Given the description of an element on the screen output the (x, y) to click on. 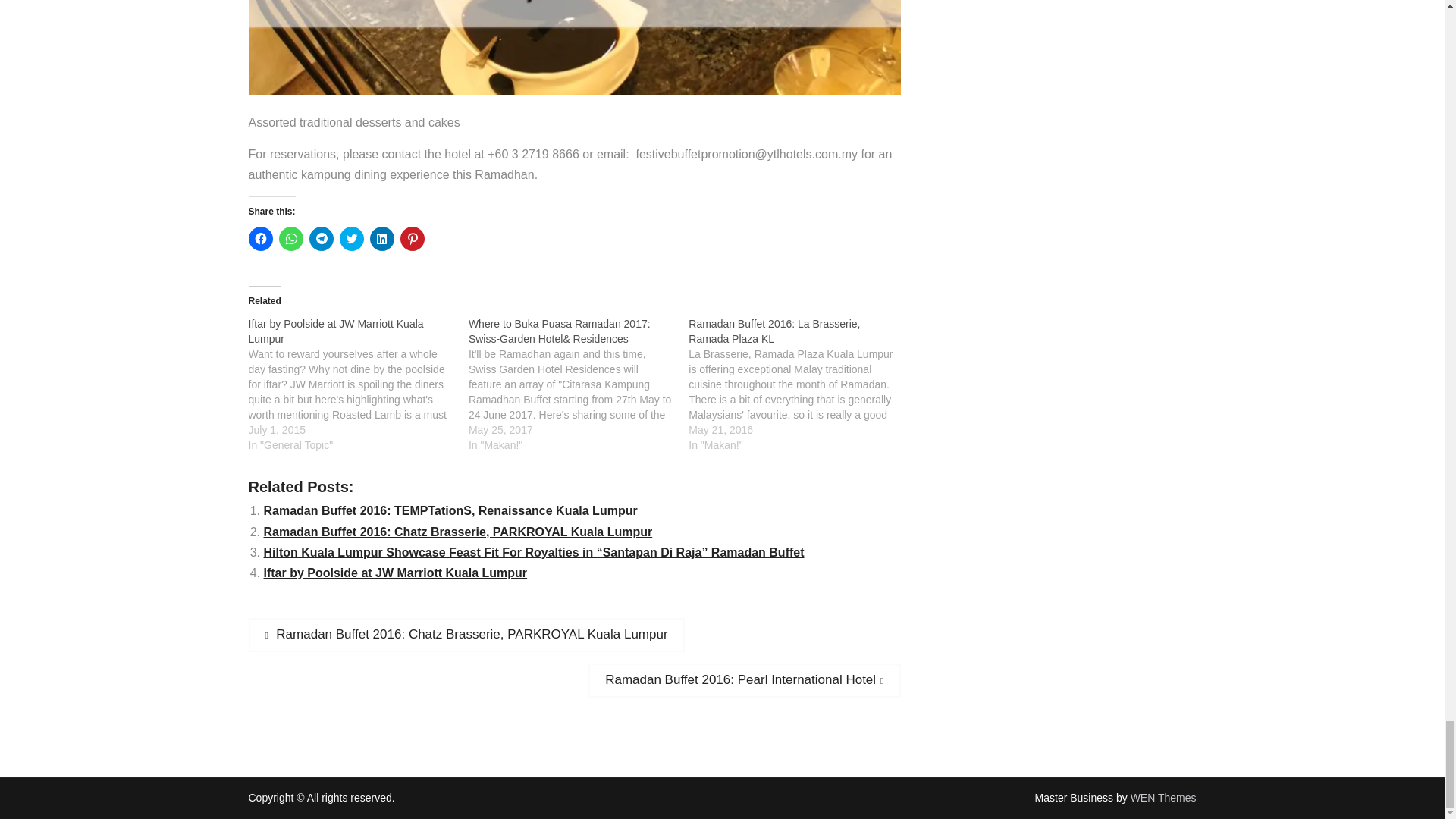
Click to share on Facebook (260, 238)
Iftar by Poolside at JW Marriott Kuala Lumpur (335, 330)
Ramadan Buffet 2016: La Brasserie, Ramada Plaza KL (798, 384)
Click to share on Twitter (351, 238)
Click to share on WhatsApp (290, 238)
Ramadan Buffet 2016: La Brasserie, Ramada Plaza KL (774, 330)
Ramadan Buffet 2016: La Brasserie, Ramada Plaza KL (774, 330)
Click to share on Telegram (320, 238)
Iftar by Poolside at JW Marriott Kuala Lumpur (358, 384)
Click to share on LinkedIn (381, 238)
Iftar by Poolside at JW Marriott Kuala Lumpur (335, 330)
Ramadan Buffet 2016: Chatz Brasserie, PARKROYAL Kuala Lumpur (457, 531)
Ramadan Buffet 2016: TEMPTationS, Renaissance Kuala Lumpur (450, 510)
Click to share on Pinterest (412, 238)
